Given the description of an element on the screen output the (x, y) to click on. 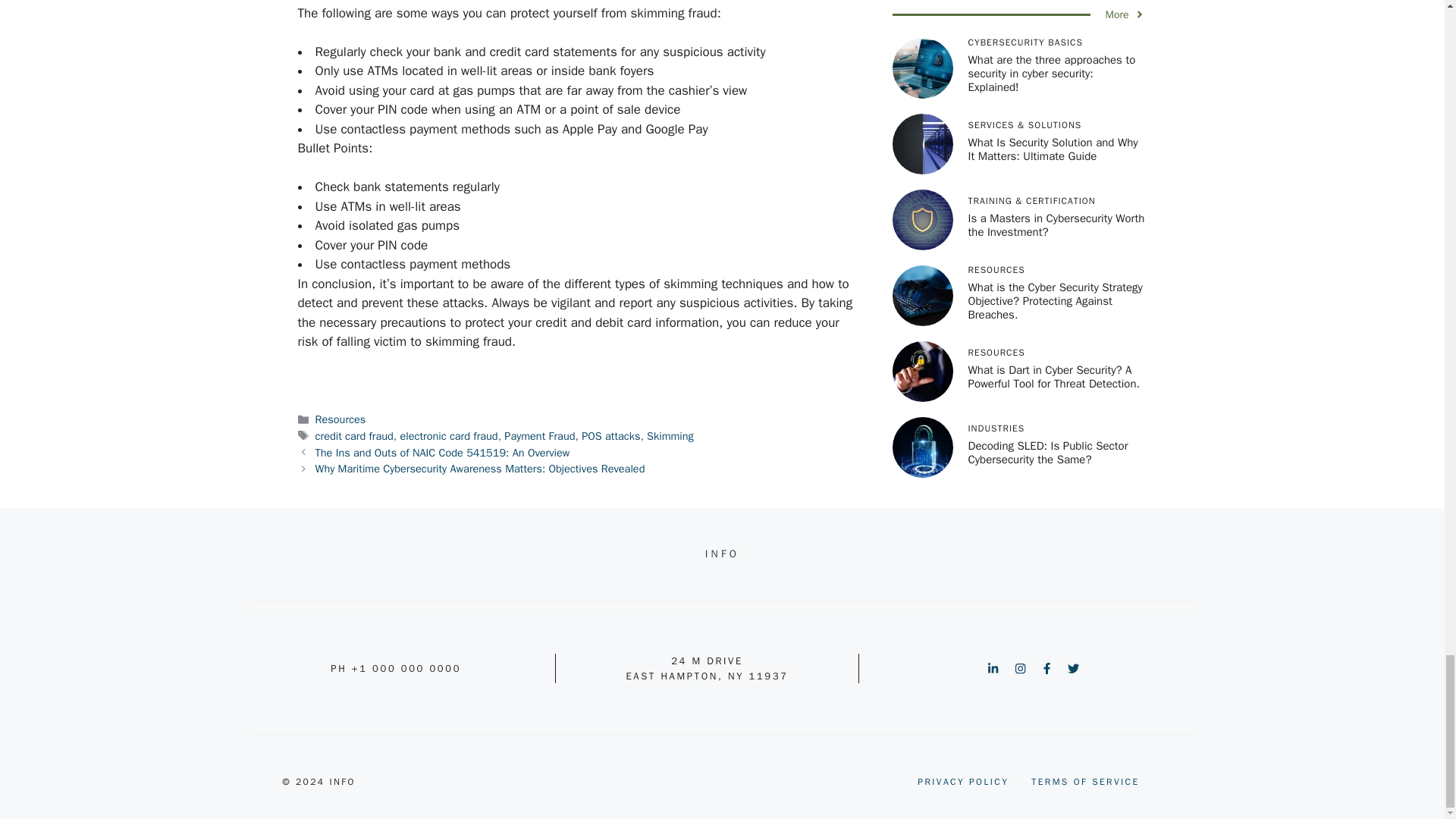
PRIVACY POLICY (963, 781)
electronic card fraud (447, 436)
Payment Fraud (539, 436)
The Ins and Outs of NAIC Code 541519: An Overview (442, 452)
TERMS OF SERVICE (1084, 781)
Resources (340, 418)
POS attacks (610, 436)
Skimming (670, 436)
credit card fraud (354, 436)
